Given the description of an element on the screen output the (x, y) to click on. 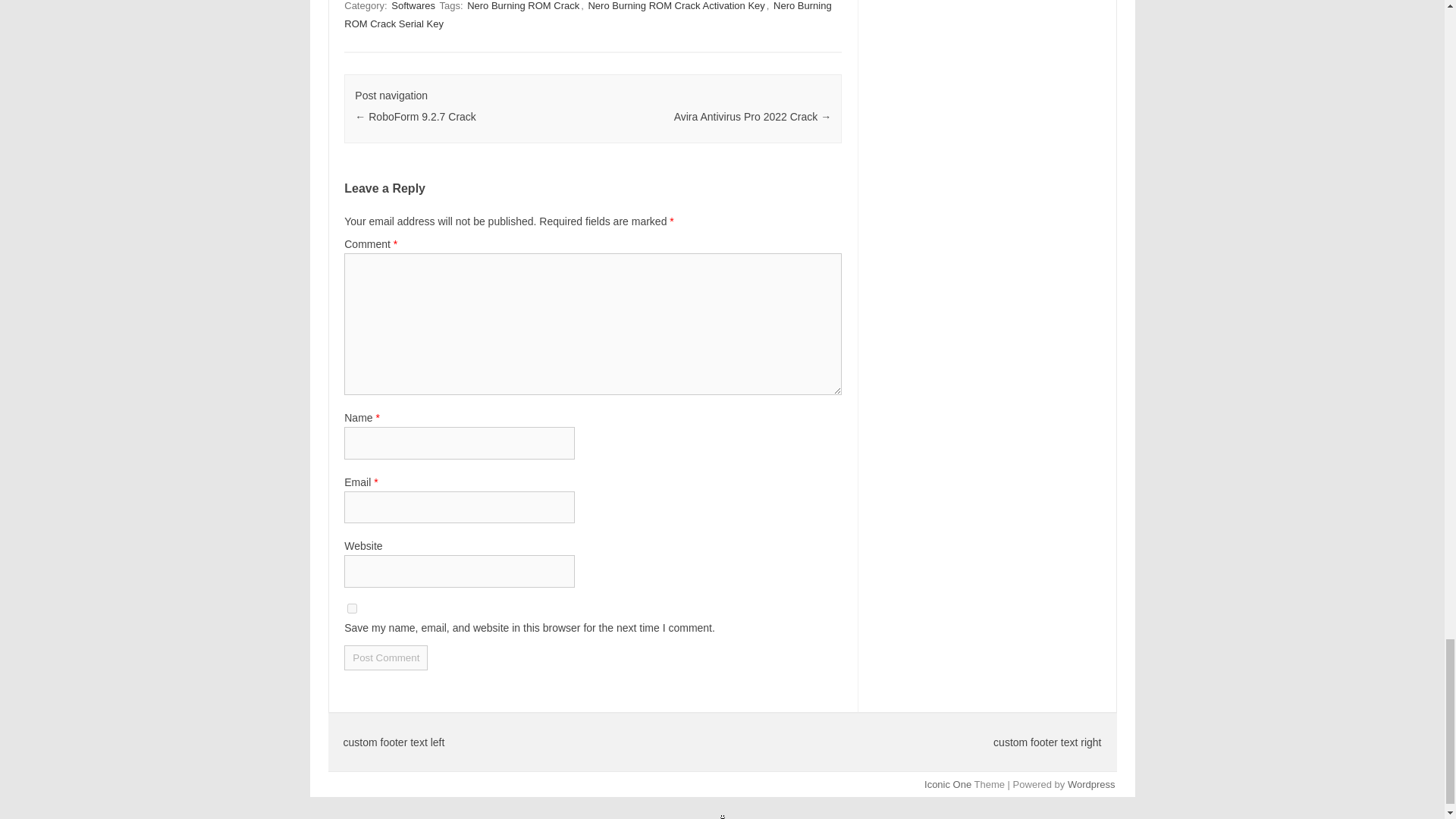
Post Comment (385, 657)
Nero Burning ROM Crack Serial Key (587, 15)
yes (351, 608)
Softwares (413, 6)
Nero Burning ROM Crack (522, 6)
Nero Burning ROM Crack Activation Key (675, 6)
